Given the description of an element on the screen output the (x, y) to click on. 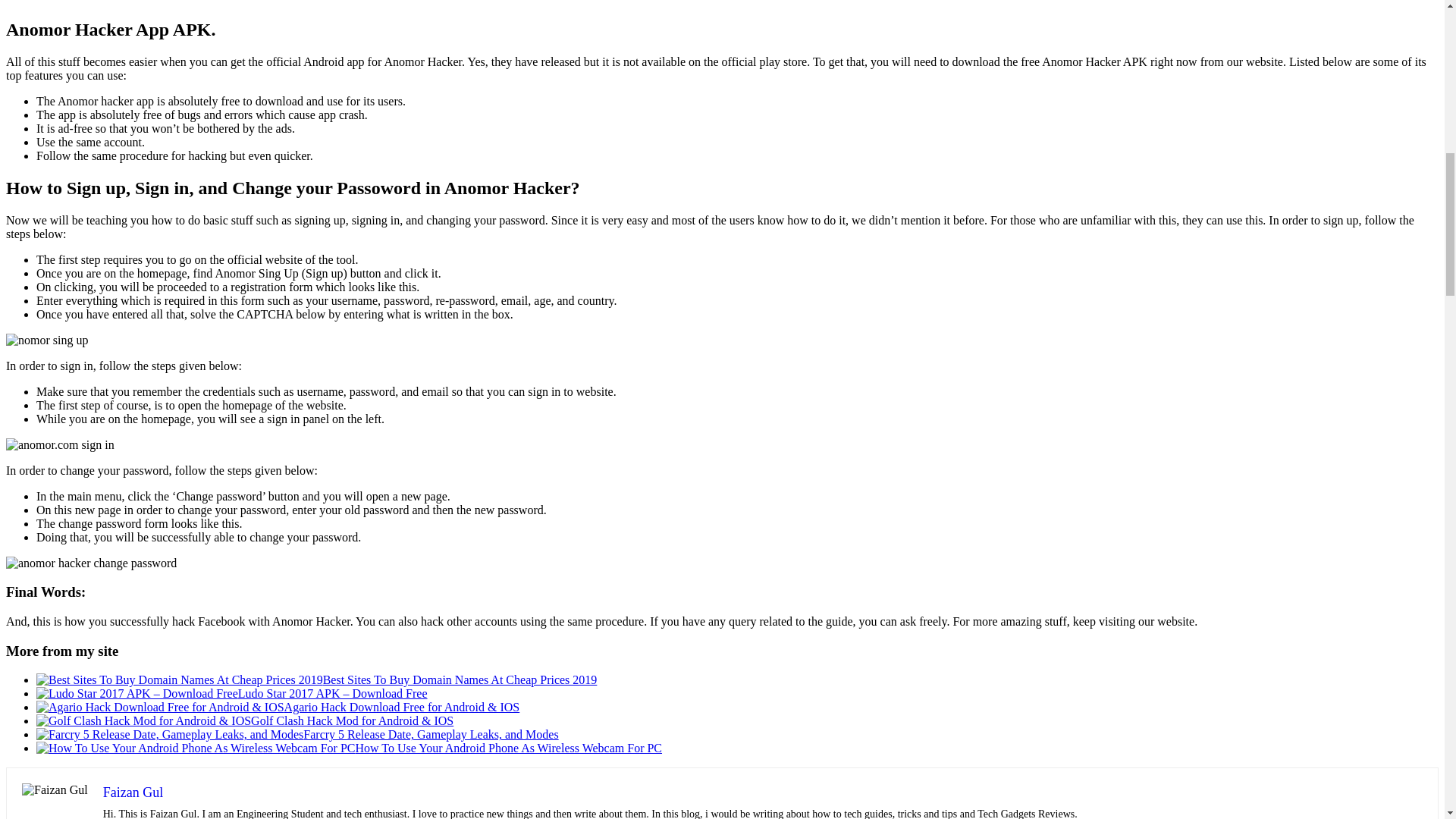
Faizan Gul (133, 792)
Best Sites To Buy Domain Names At Cheap Prices 2019 (459, 679)
Farcry 5 Release Date, Gameplay Leaks, and Modes (429, 734)
How To Use Your Android Phone As Wireless Webcam For PC (508, 748)
